Given the description of an element on the screen output the (x, y) to click on. 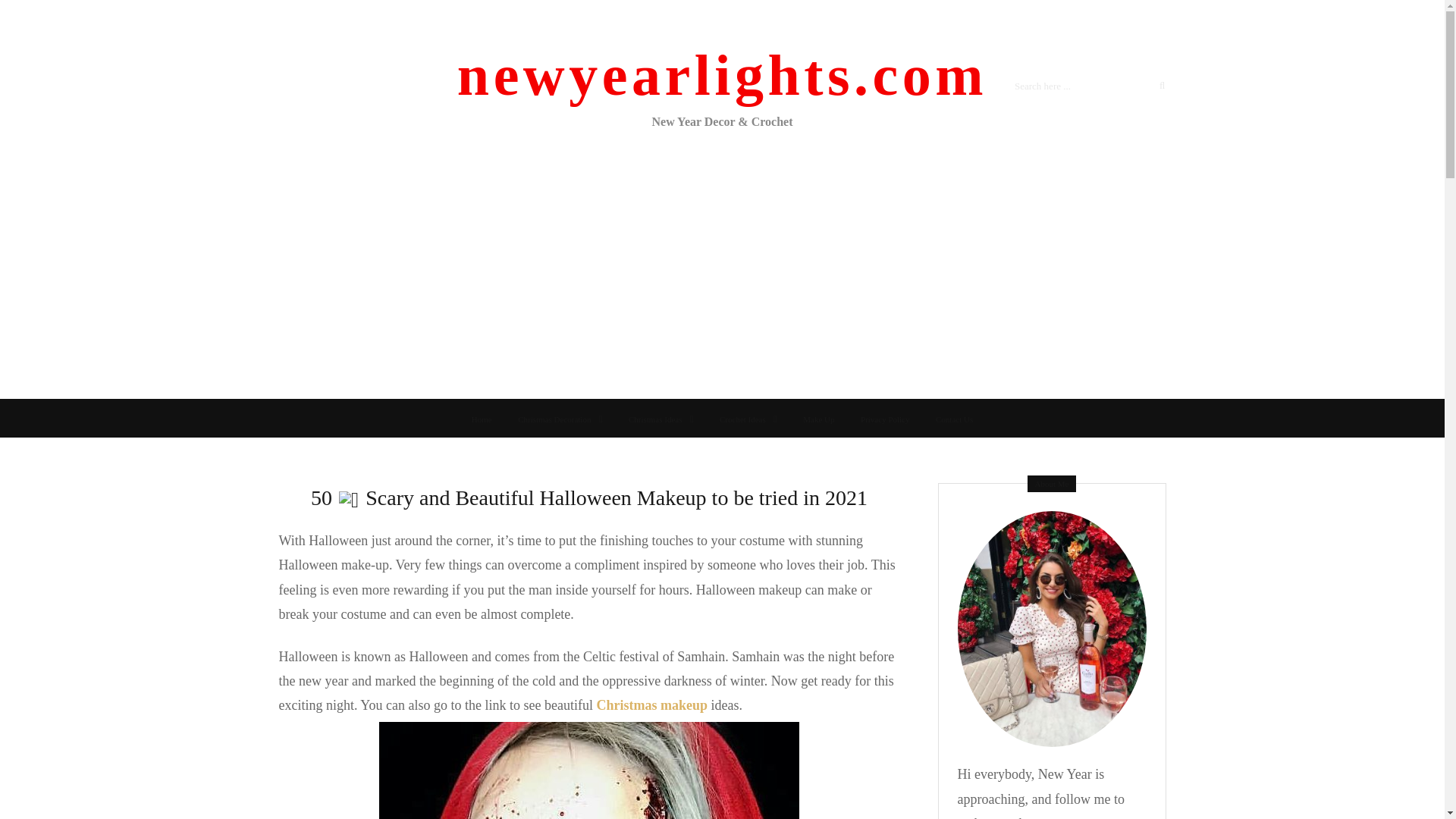
Christmas Ideas (661, 419)
Privacy Policy (884, 419)
Christmas Decoration (560, 419)
Crochet Ideas (748, 419)
Make Up (818, 419)
Contact Us (954, 419)
Home (481, 419)
